Given the description of an element on the screen output the (x, y) to click on. 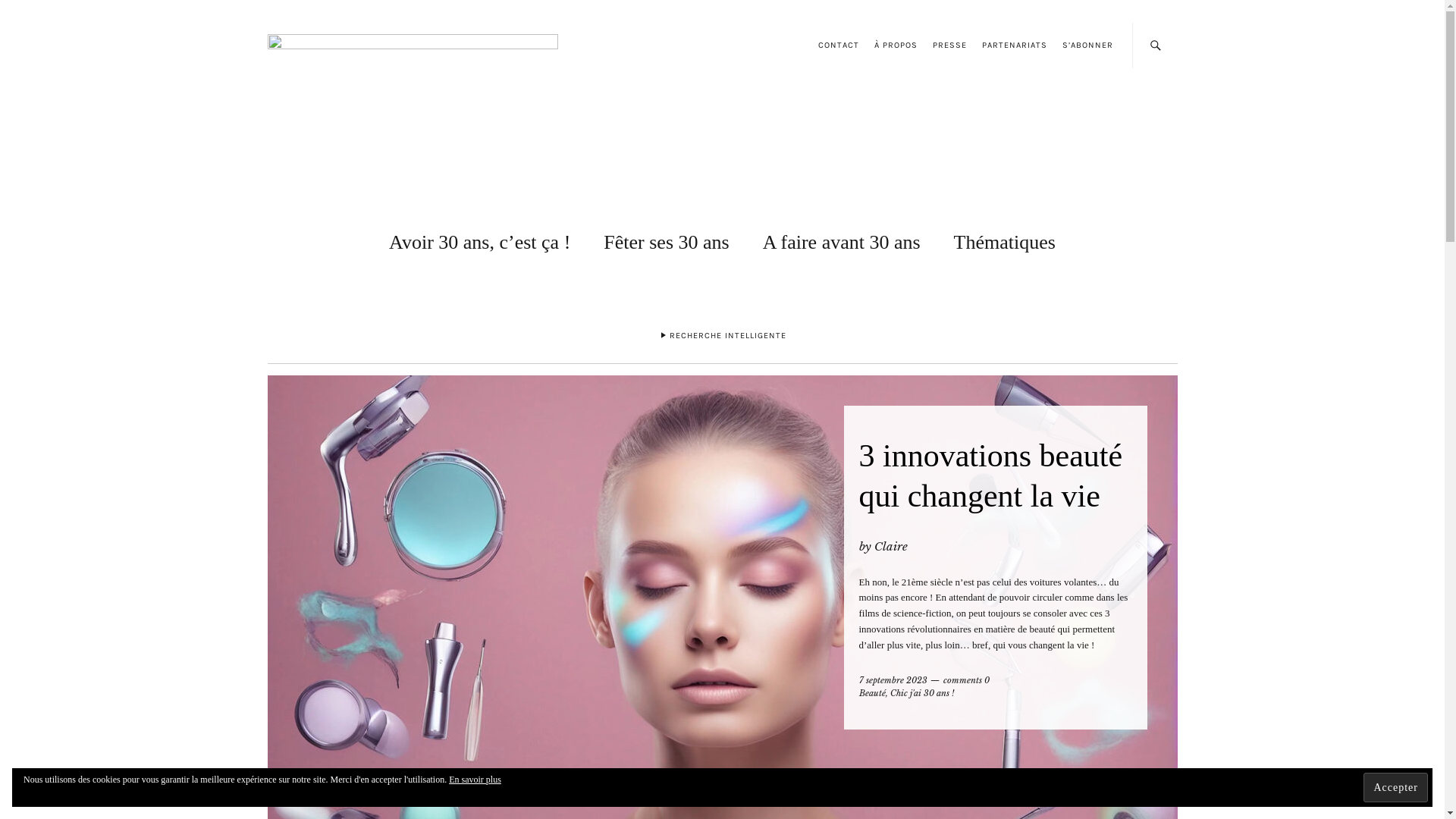
PRESSE Element type: text (949, 45)
A faire avant 30 ans Element type: text (841, 239)
En savoir plus Element type: text (474, 779)
comments 0 Element type: text (966, 679)
7 septembre 2023 Element type: text (892, 679)
PARTENARIATS Element type: text (1013, 45)
Accepter Element type: text (1395, 787)
Chic j'ai 30 ans ! Element type: text (921, 692)
Claire Element type: text (889, 546)
RECHERCHE INTELLIGENTE Element type: text (721, 337)
CONTACT Element type: text (837, 45)
